Given the description of an element on the screen output the (x, y) to click on. 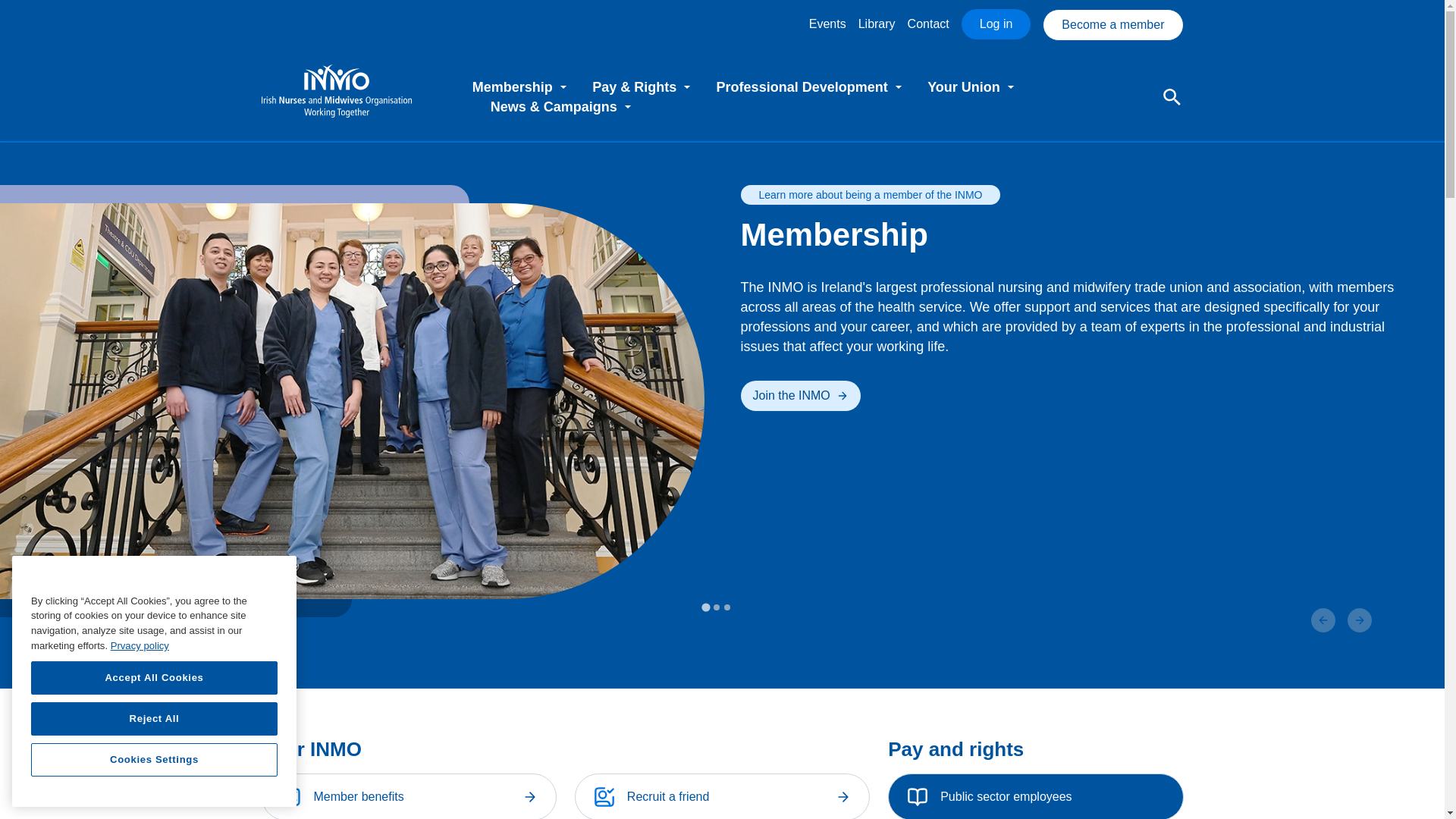
Events (827, 24)
Your Union (972, 86)
Membership (520, 86)
Contact (928, 24)
Professional Development (810, 86)
Log in (995, 24)
Become a member (1112, 24)
Library (877, 24)
